Given the description of an element on the screen output the (x, y) to click on. 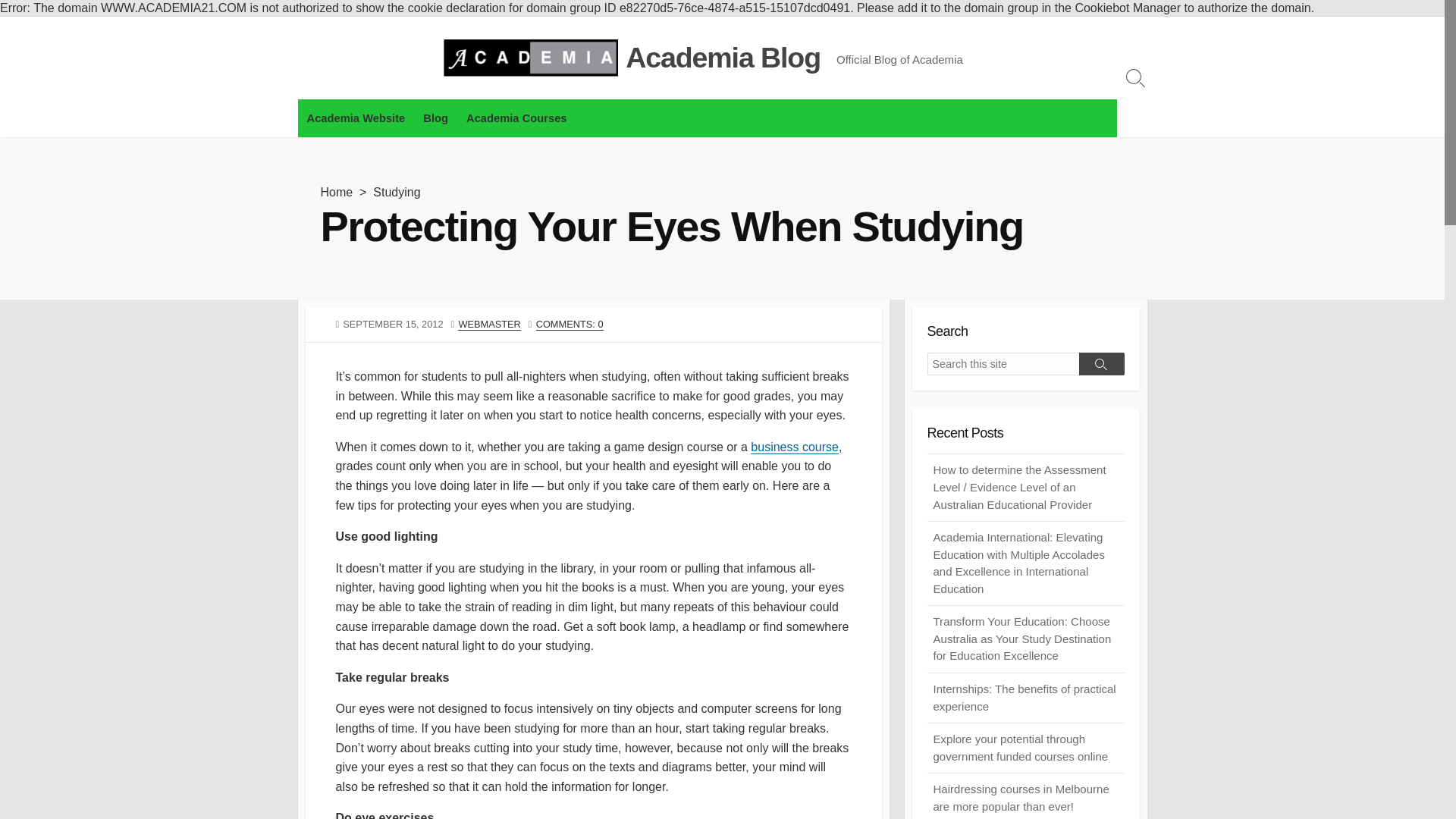
Academia Blog (723, 57)
Studying (396, 192)
Academia Website (355, 118)
Blog (435, 118)
Posts by Webmaster (488, 324)
Academia Courses (516, 118)
business course (794, 446)
WEBMASTER (488, 324)
Academia Blog (723, 57)
Home (336, 192)
Academia Blog (530, 57)
COMMENTS: 0 (569, 324)
